Given the description of an element on the screen output the (x, y) to click on. 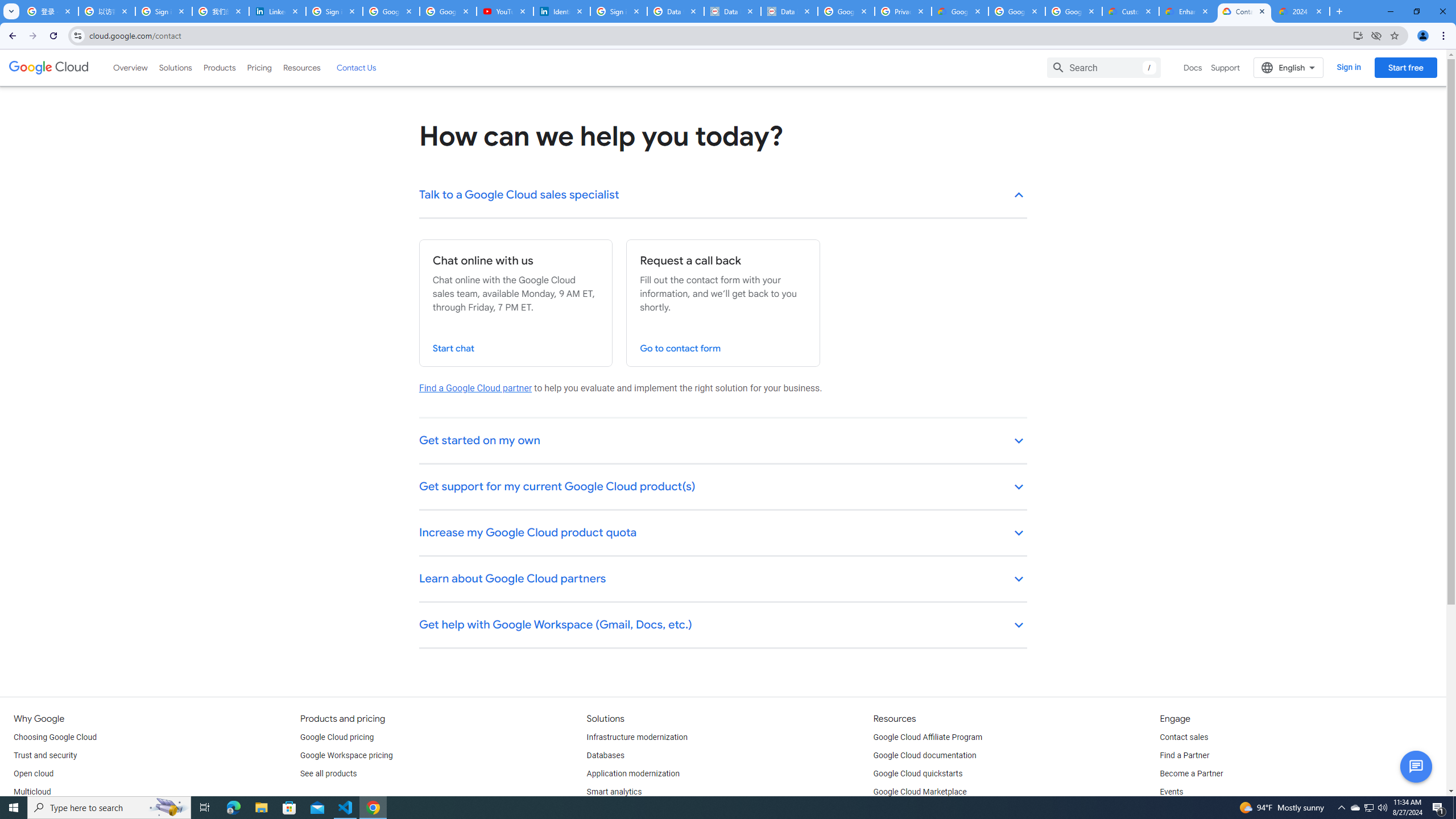
Google Cloud Terms Directory | Google Cloud (959, 11)
Google Cloud (48, 67)
Enhanced Support | Google Cloud (1187, 11)
Google Cloud pricing (336, 737)
Google Cloud documentation (924, 755)
Contact Us (355, 67)
Application modernization (632, 773)
Multicloud (31, 791)
